Given the description of an element on the screen output the (x, y) to click on. 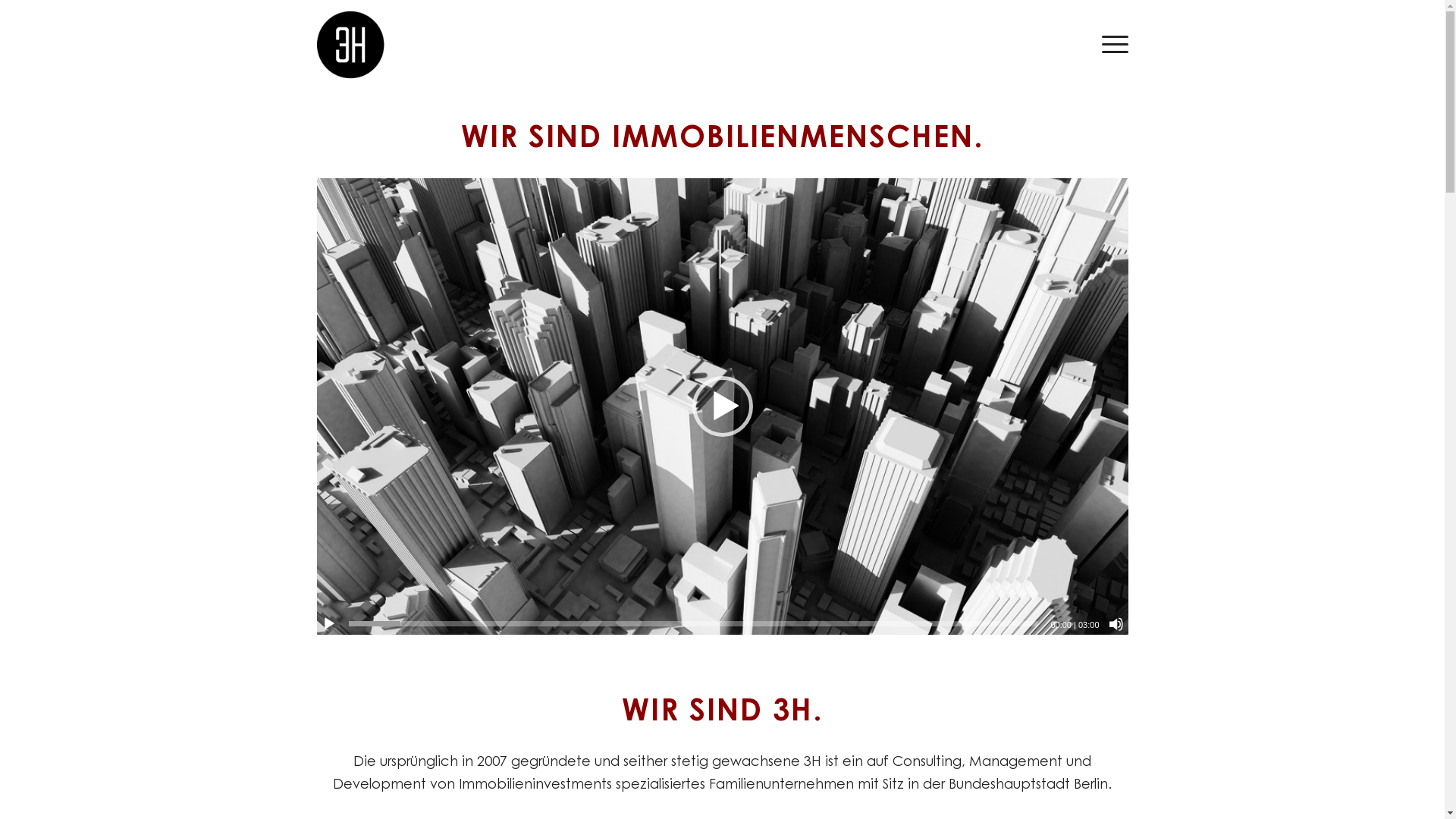
Abspielen Element type: hover (328, 623)
Stumm Element type: hover (1115, 623)
